Given the description of an element on the screen output the (x, y) to click on. 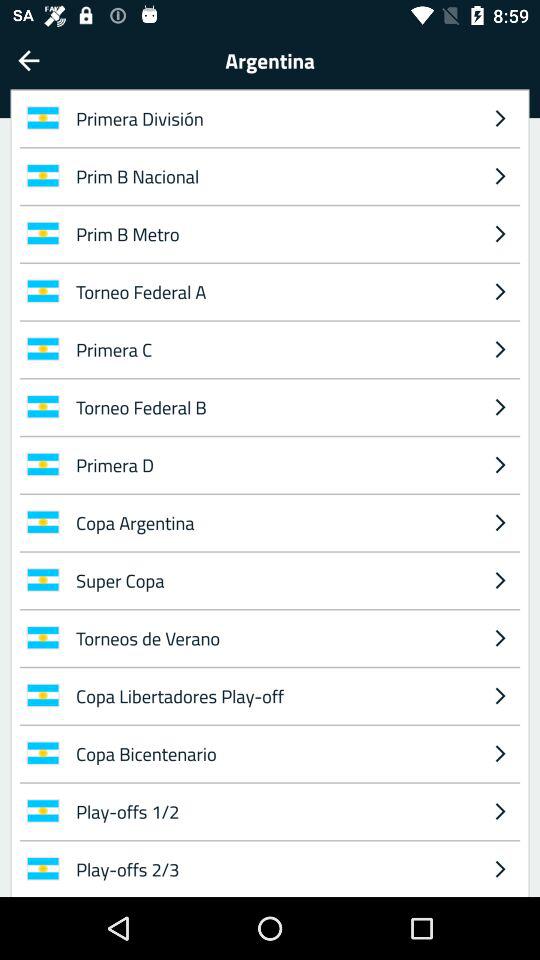
turn off item below the torneo federal b item (273, 464)
